Given the description of an element on the screen output the (x, y) to click on. 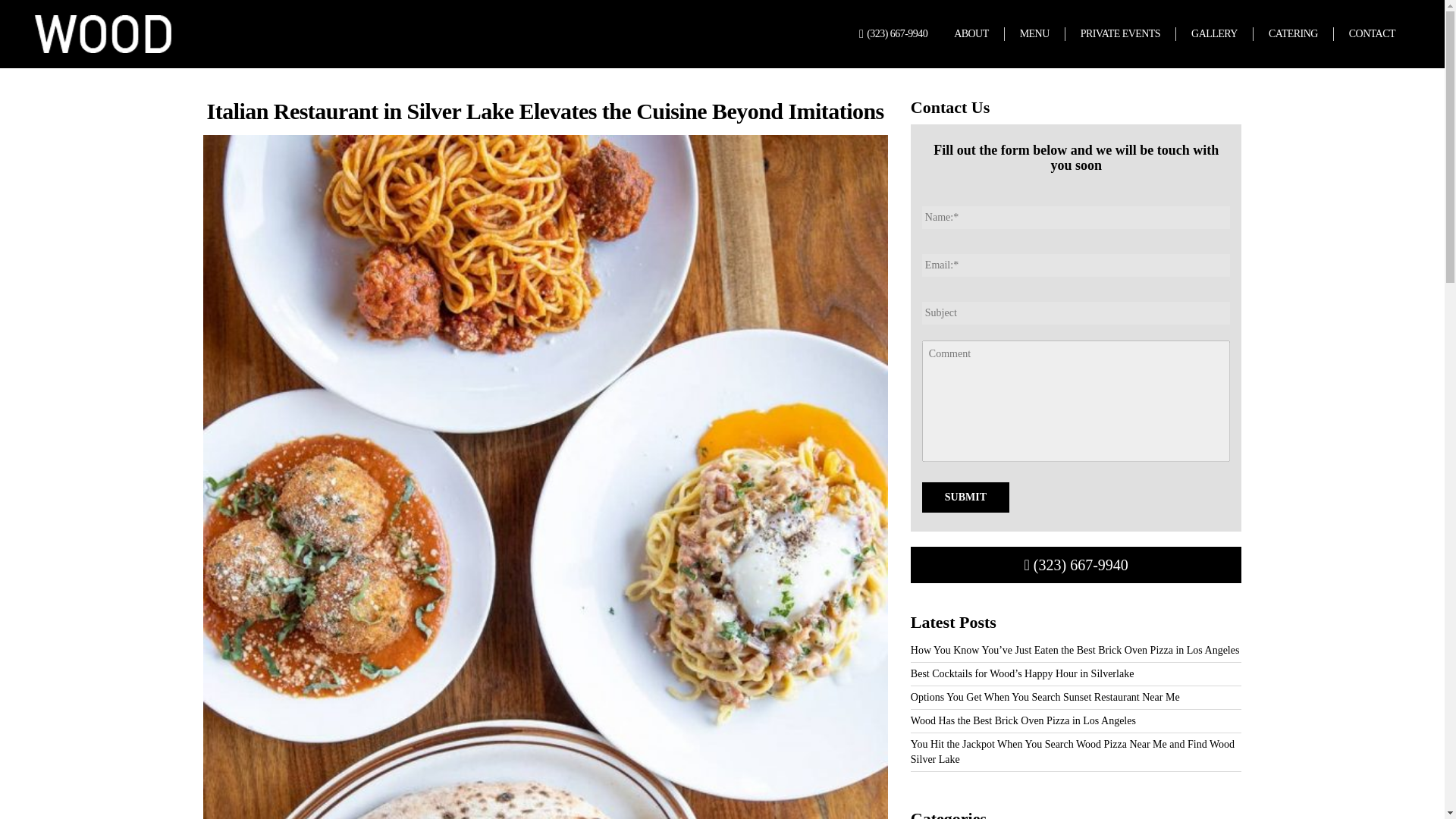
MENU (1034, 33)
Submit (965, 497)
Submit (965, 497)
ABOUT (971, 33)
Wood Has the Best Brick Oven Pizza in Los Angeles (1023, 720)
CONTACT (1371, 33)
PRIVATE EVENTS (1119, 33)
GALLERY (1213, 33)
